Given the description of an element on the screen output the (x, y) to click on. 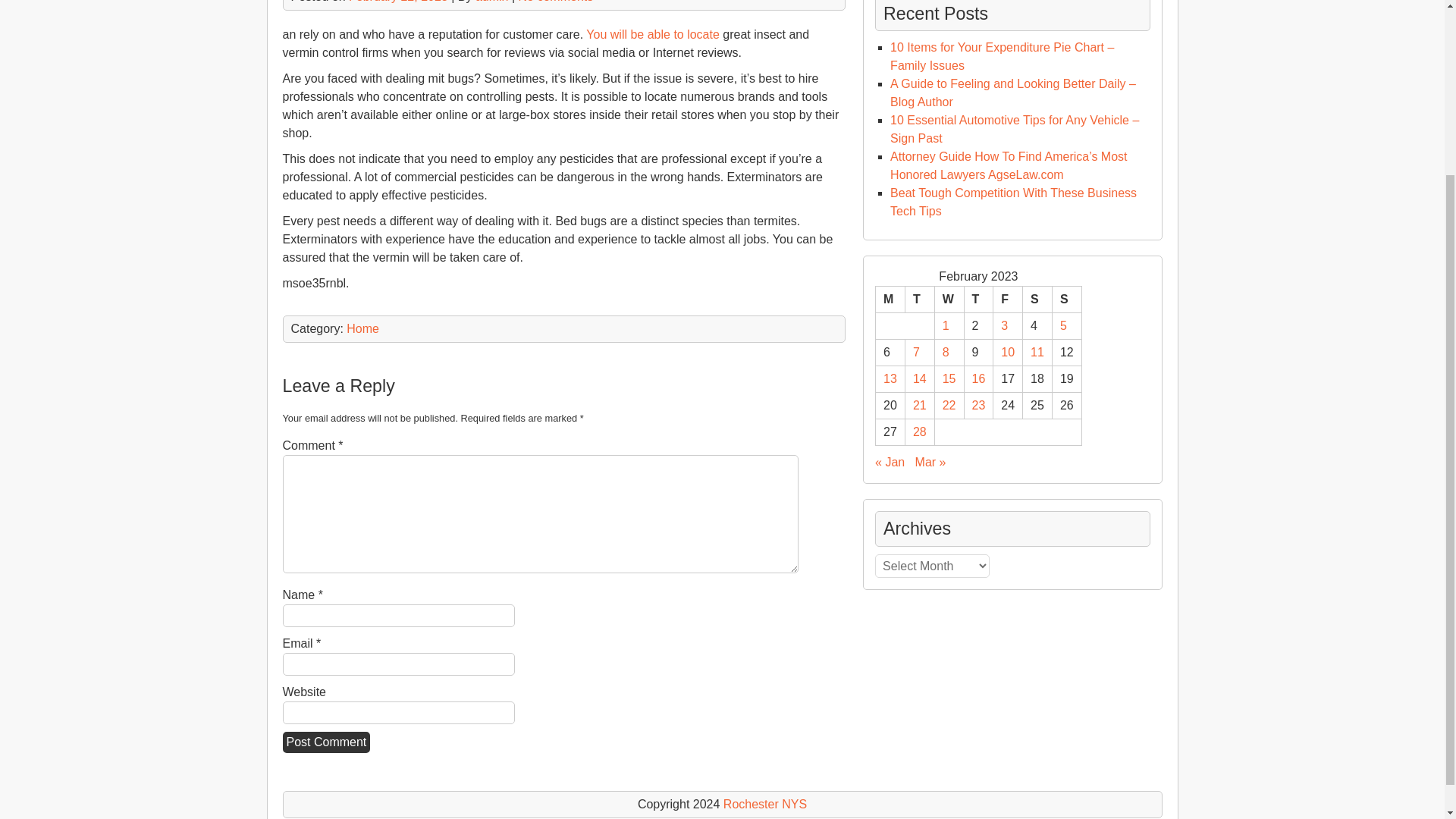
Rochester NYS (764, 803)
Tuesday (919, 299)
10 (1007, 351)
Sunday (1066, 299)
Monday (890, 299)
21 (919, 404)
14 (919, 378)
13 (889, 378)
22 (949, 404)
15 (949, 378)
